Given the description of an element on the screen output the (x, y) to click on. 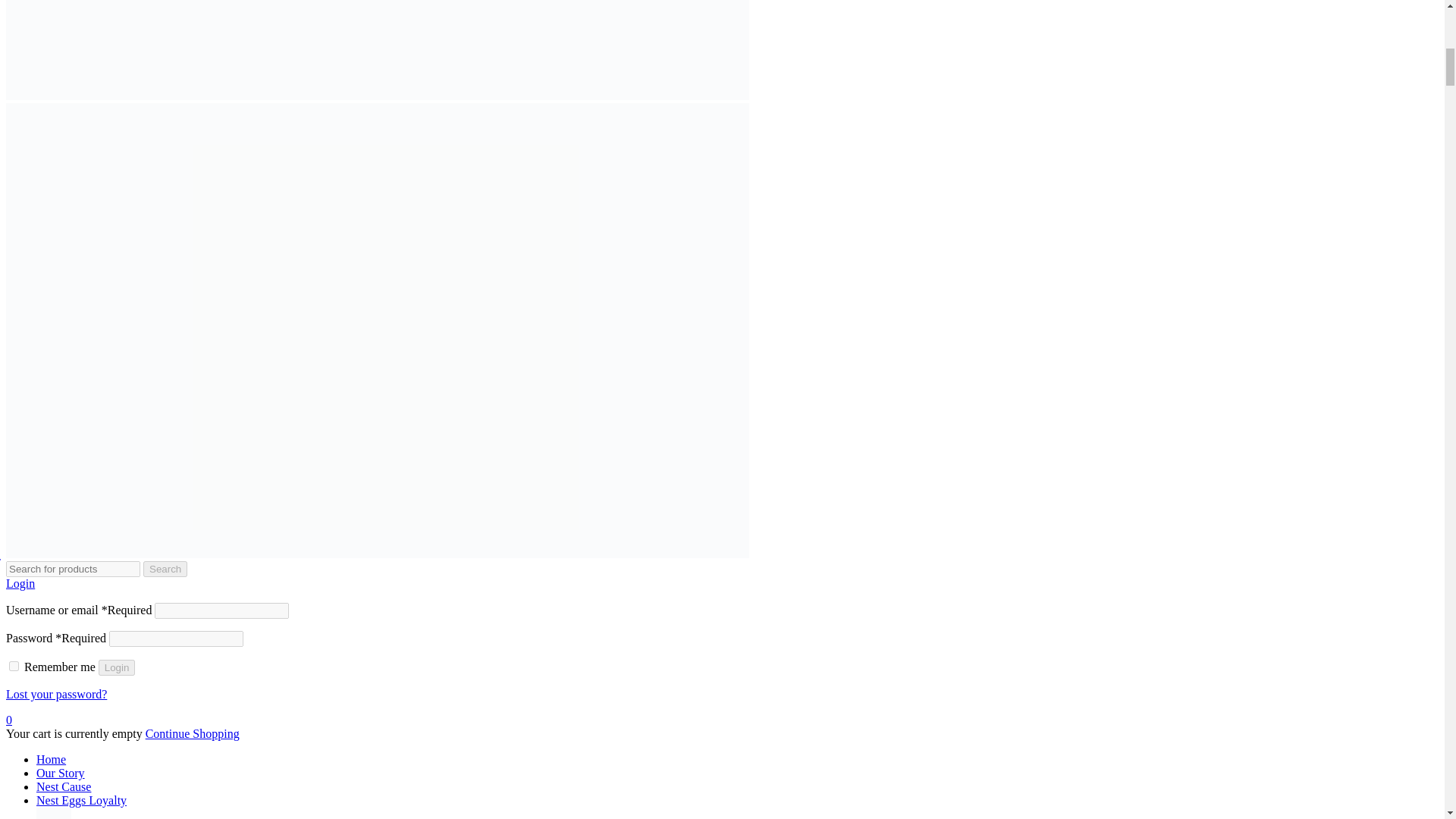
Login (19, 583)
Login (19, 583)
Search (164, 569)
Home (50, 758)
Nest Eggs Loyalty (81, 799)
Lost your password? (55, 694)
forever (13, 665)
Our Story (60, 772)
Login (117, 667)
